Given the description of an element on the screen output the (x, y) to click on. 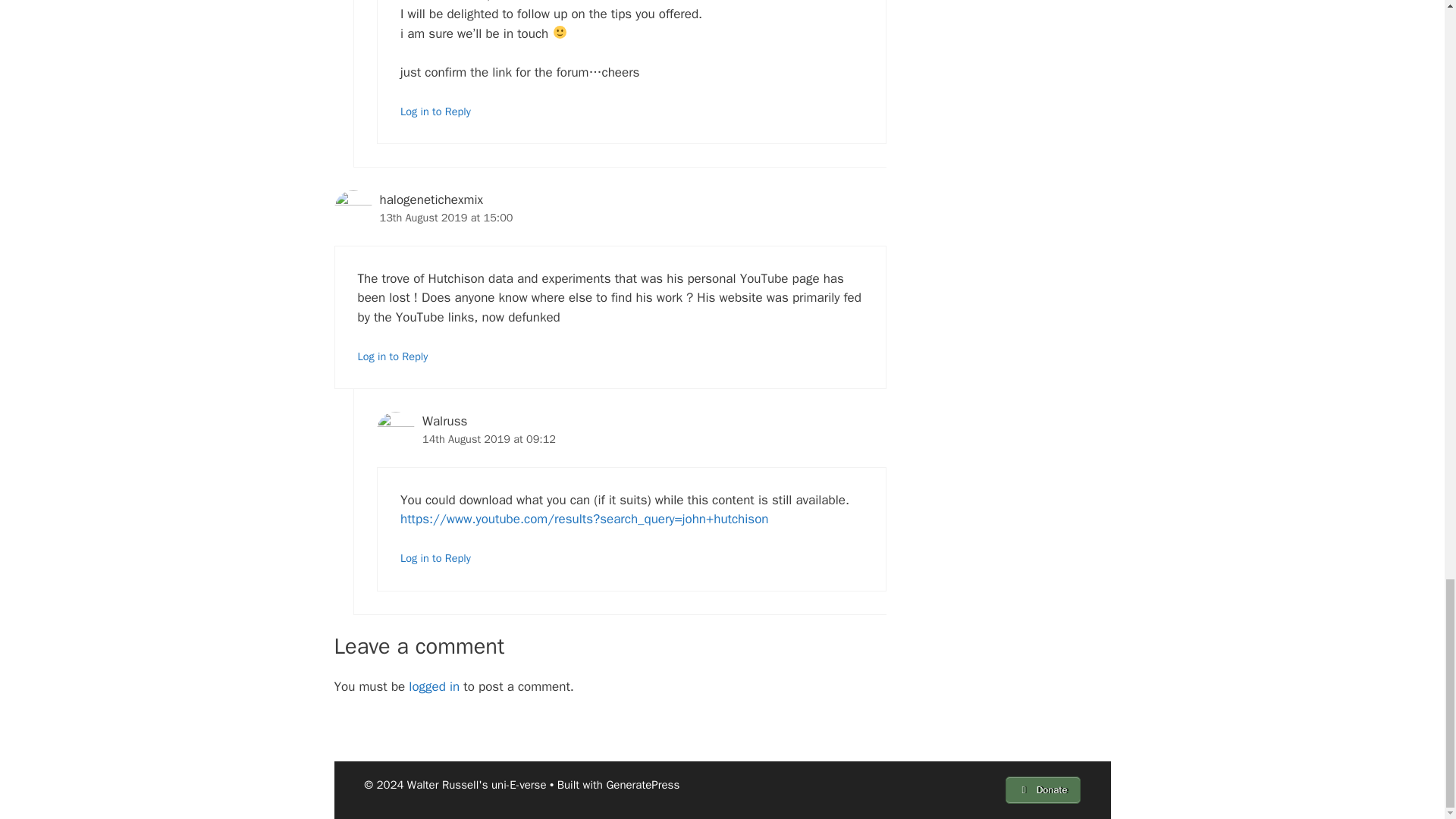
Log in to Reply (435, 110)
